Given the description of an element on the screen output the (x, y) to click on. 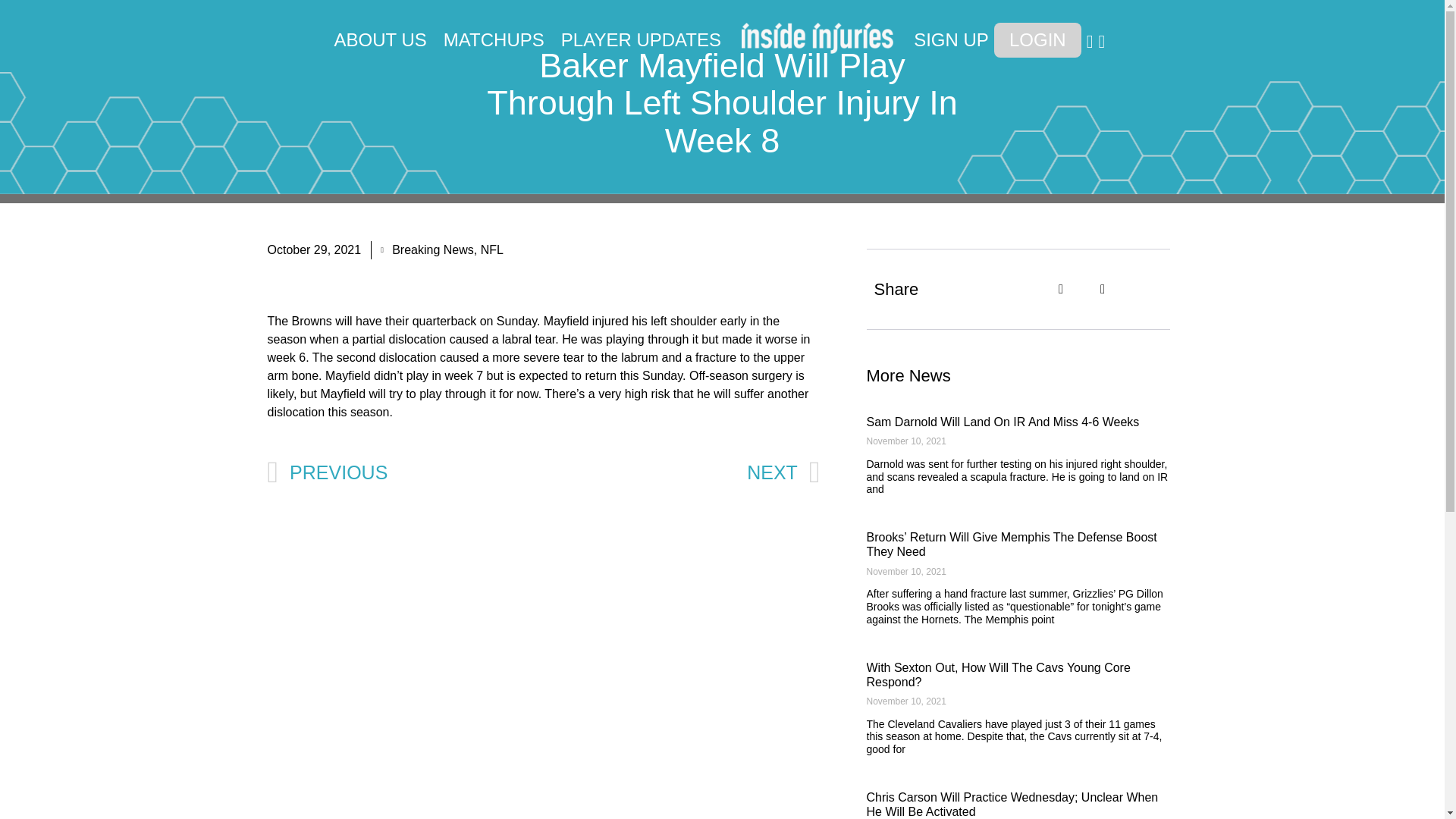
With Sexton Out, How Will The Cavs Young Core Respond? (997, 674)
ABOUT US (379, 39)
October 29, 2021 (313, 249)
PLAYER UPDATES (640, 39)
MATCHUPS (494, 39)
LOGIN (1037, 39)
PREVIOUS (404, 473)
Sam Darnold Will Land On IR And Miss 4-6 Weeks (1002, 421)
NFL (491, 249)
NEXT (782, 473)
Breaking News (432, 249)
SIGN UP (951, 39)
